Given the description of an element on the screen output the (x, y) to click on. 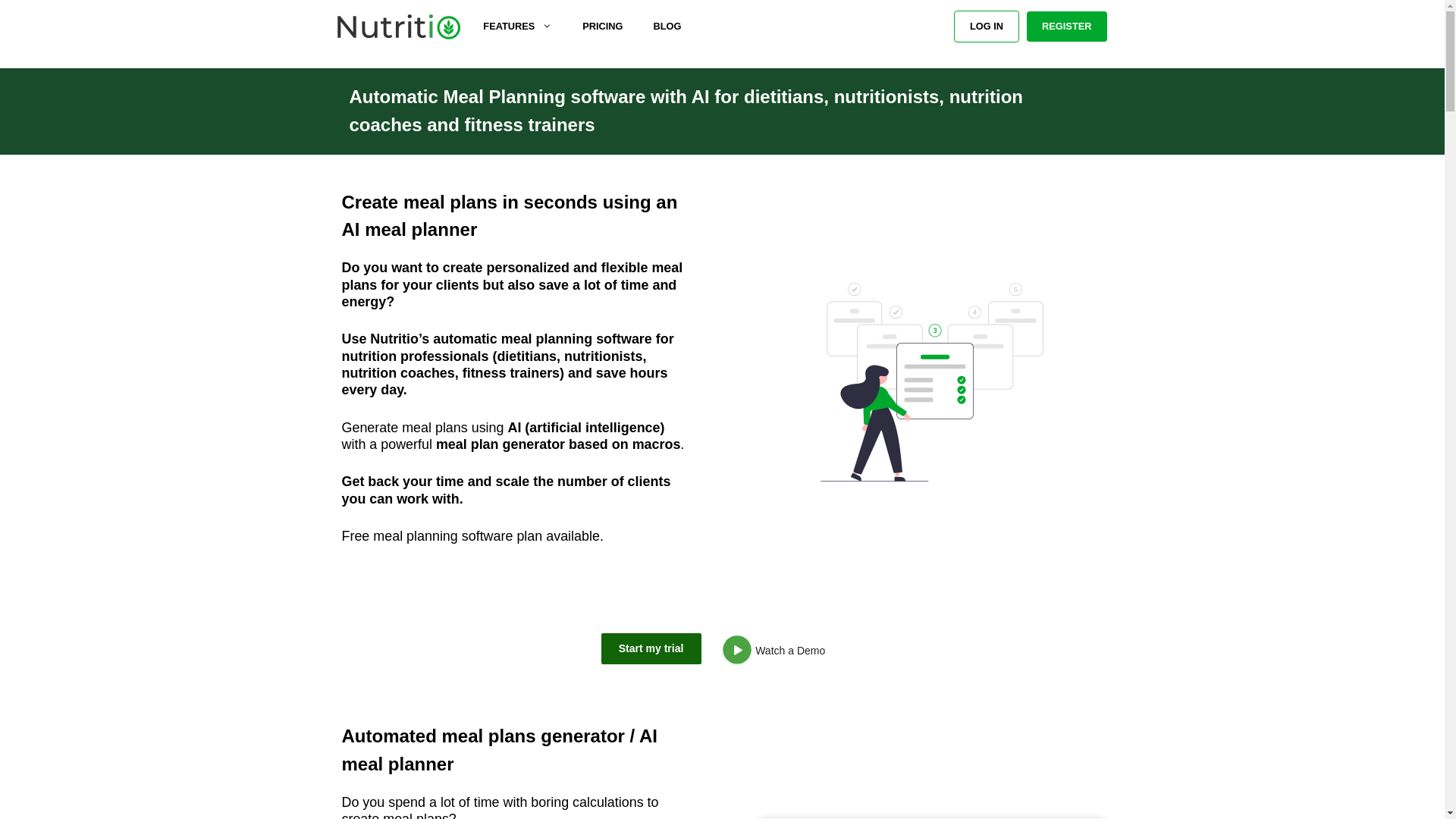
BLOG (666, 26)
Start my trial (651, 648)
Nutritio (396, 26)
LOG IN (986, 26)
PRICING (602, 26)
FEATURES (517, 26)
Watch a Demo (778, 653)
REGISTER (1066, 26)
